Given the description of an element on the screen output the (x, y) to click on. 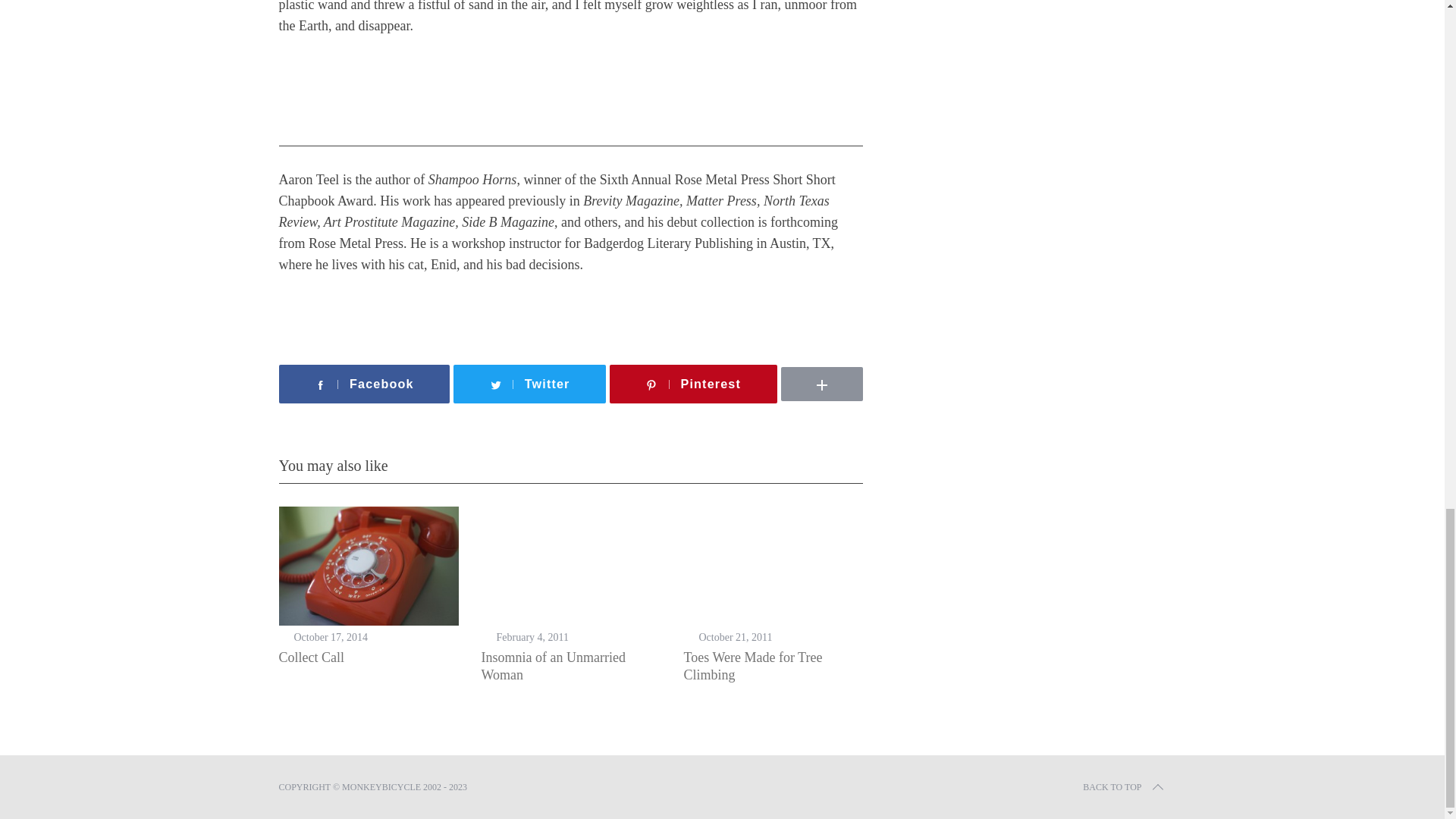
Collect Call (311, 657)
Facebook (364, 383)
Twitter (528, 383)
LINKEDIN (867, 361)
Pinterest (693, 383)
Insomnia of an Unmarried Woman (552, 666)
Toes Were Made for Tree Climbing (753, 666)
